Given the description of an element on the screen output the (x, y) to click on. 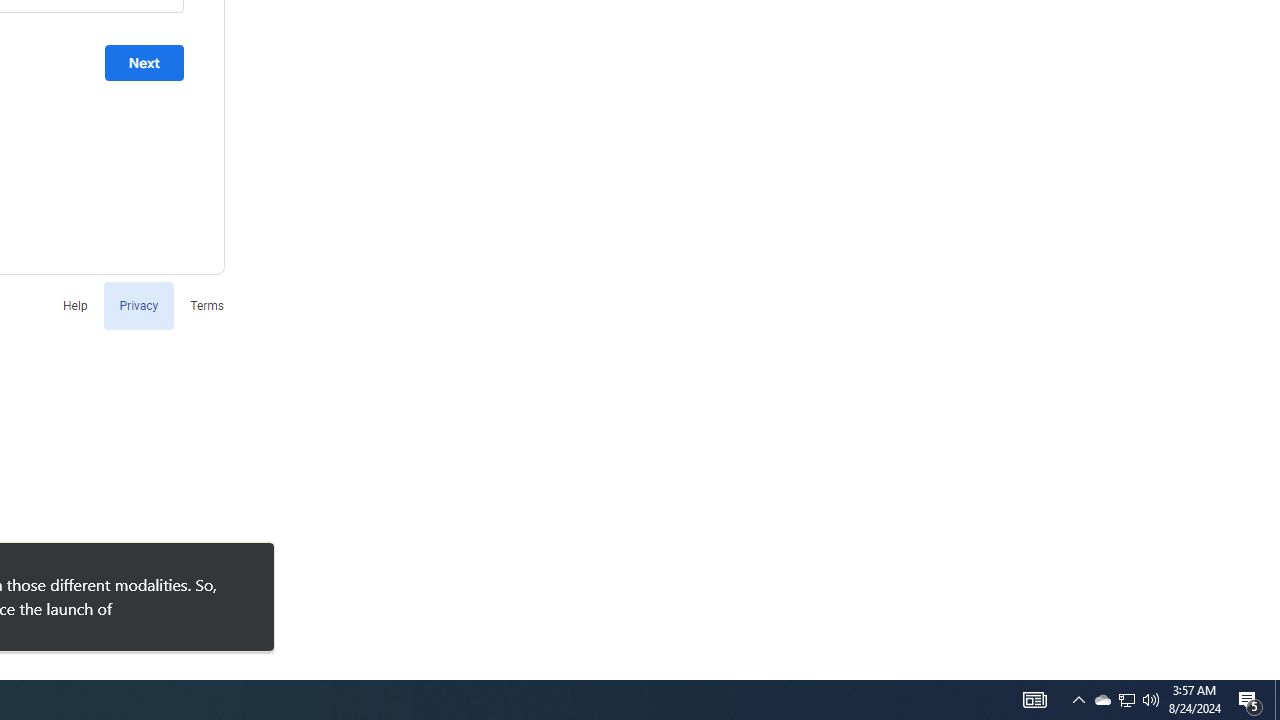
Privacy (138, 304)
Help (74, 304)
Terms (207, 304)
Next (143, 63)
